Given the description of an element on the screen output the (x, y) to click on. 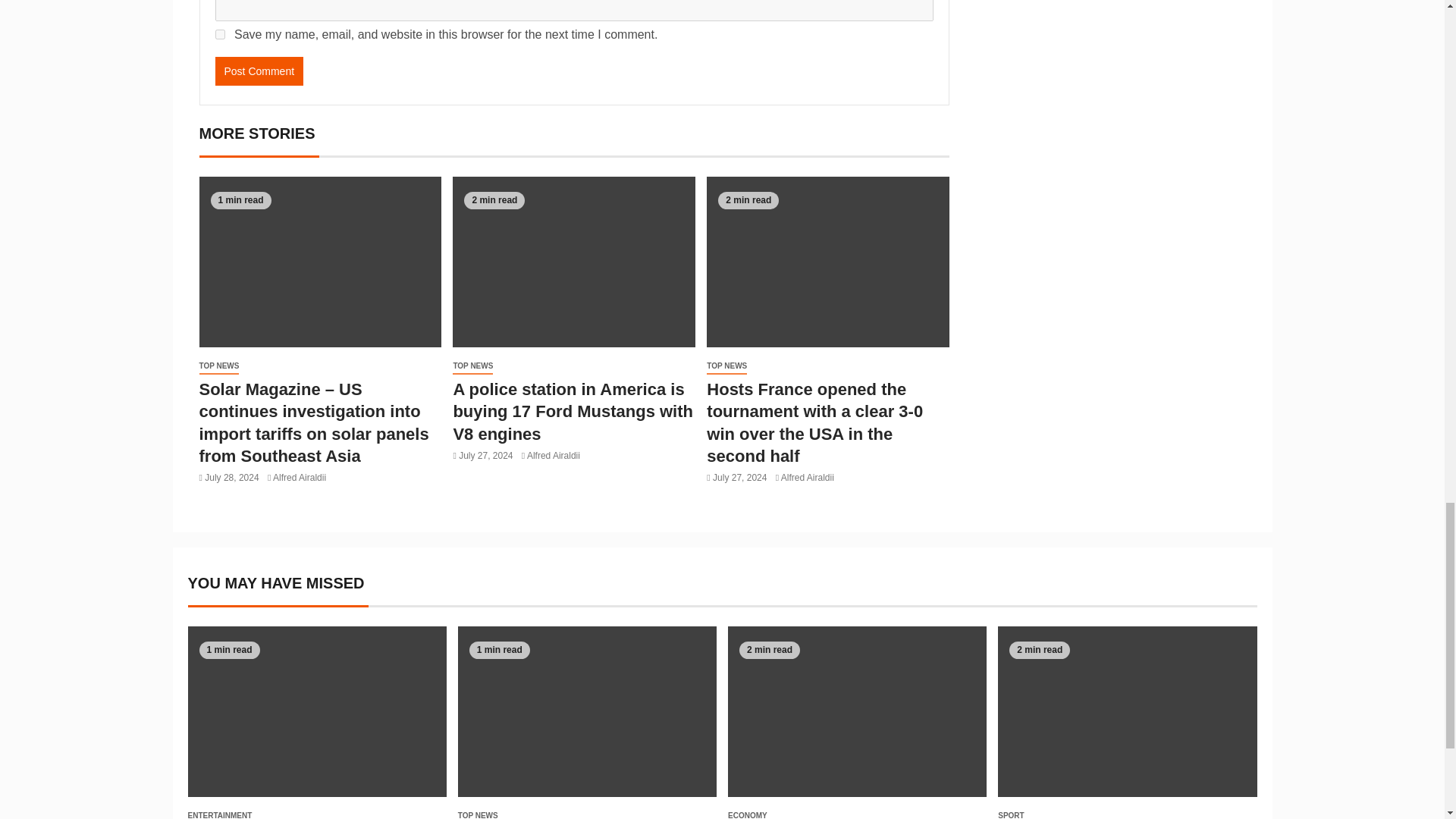
yes (220, 34)
TOP NEWS (726, 366)
Alfred Airaldii (299, 477)
Post Comment (259, 70)
TOP NEWS (472, 366)
Post Comment (259, 70)
TOP NEWS (218, 366)
Alfred Airaldii (553, 455)
